Given the description of an element on the screen output the (x, y) to click on. 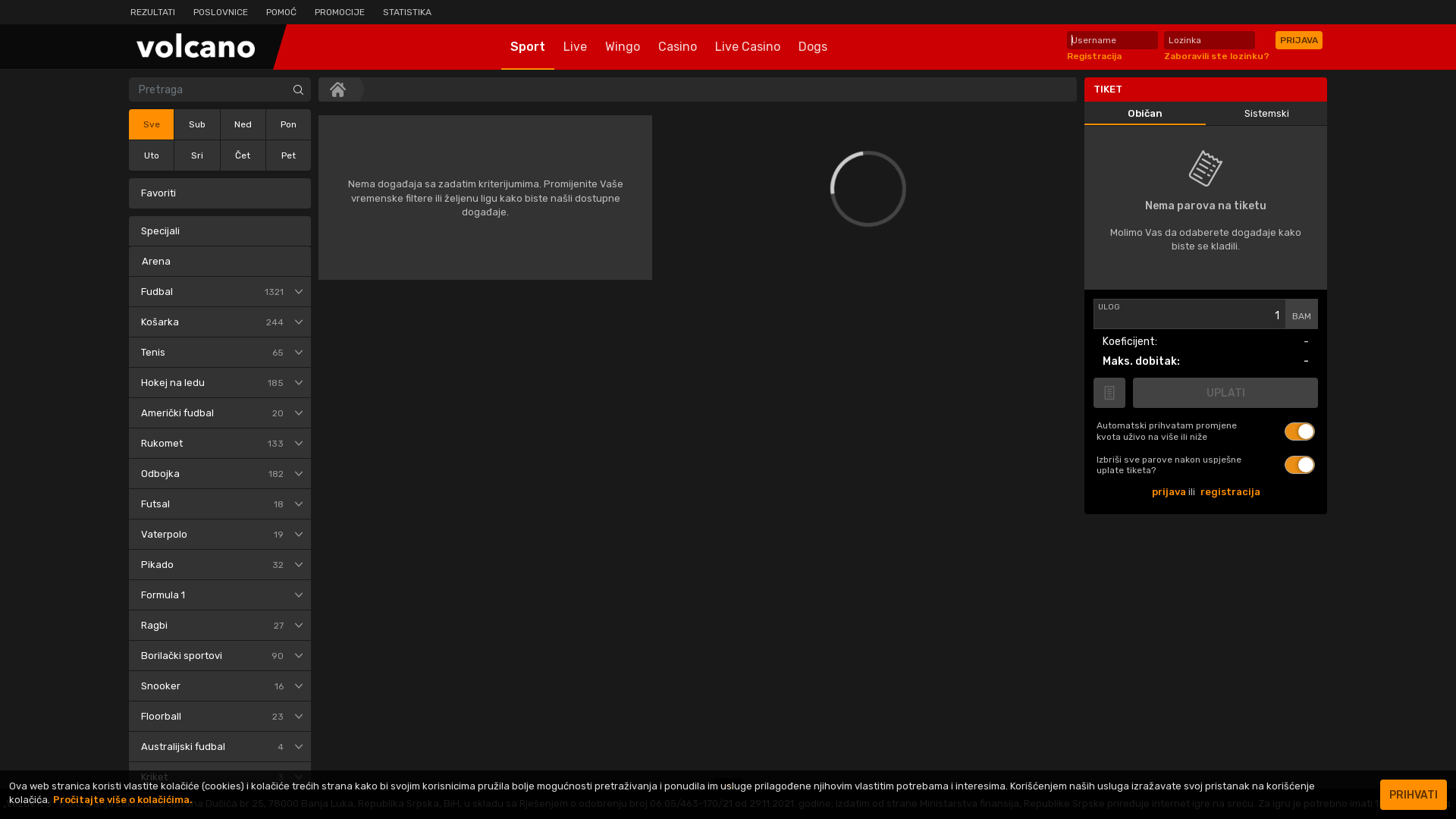
POSLOVNICE Element type: text (220, 12)
Live Element type: text (574, 46)
REZULTATI Element type: text (152, 12)
PROMOCIJE Element type: text (339, 11)
STATISTIKA Element type: text (406, 11)
Live Casino Element type: text (746, 46)
Zaboravili ste lozinku? Element type: text (1216, 55)
Dogs Element type: text (811, 46)
Registracija Element type: text (1093, 55)
Wingo Element type: text (622, 46)
Casino Element type: text (677, 46)
PRIJAVA Element type: text (1298, 40)
Sport Element type: text (526, 47)
PRIHVATI Element type: text (1413, 794)
Pregled tiketa Element type: hover (1109, 392)
